Given the description of an element on the screen output the (x, y) to click on. 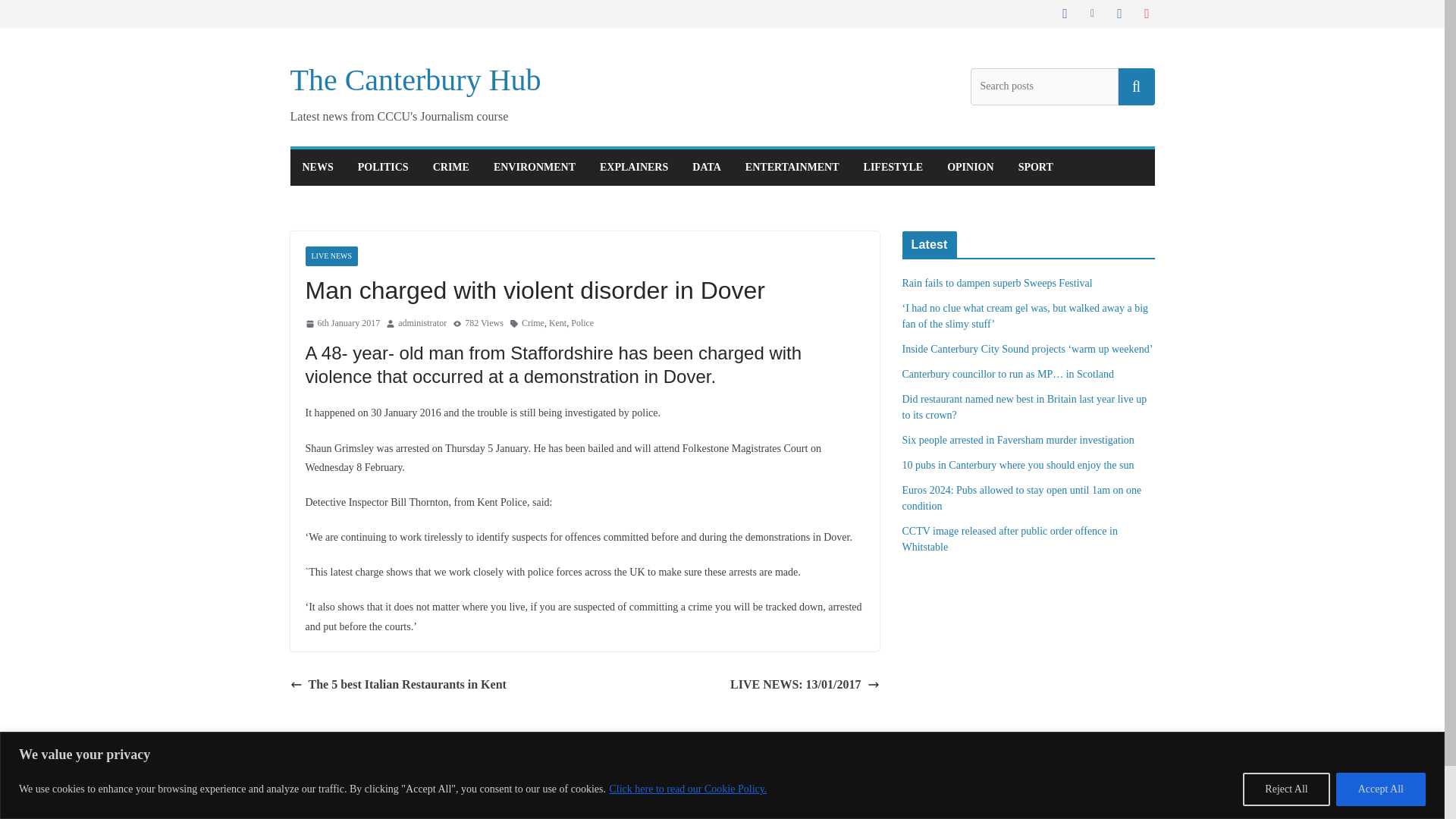
DATA (706, 167)
Crime (532, 323)
8:00 pm (342, 323)
SPORT (1034, 167)
OPINION (969, 167)
administrator (421, 323)
The Canterbury Hub (414, 80)
Reject All (1286, 788)
Accept All (1380, 788)
ENTERTAINMENT (792, 167)
